Given the description of an element on the screen output the (x, y) to click on. 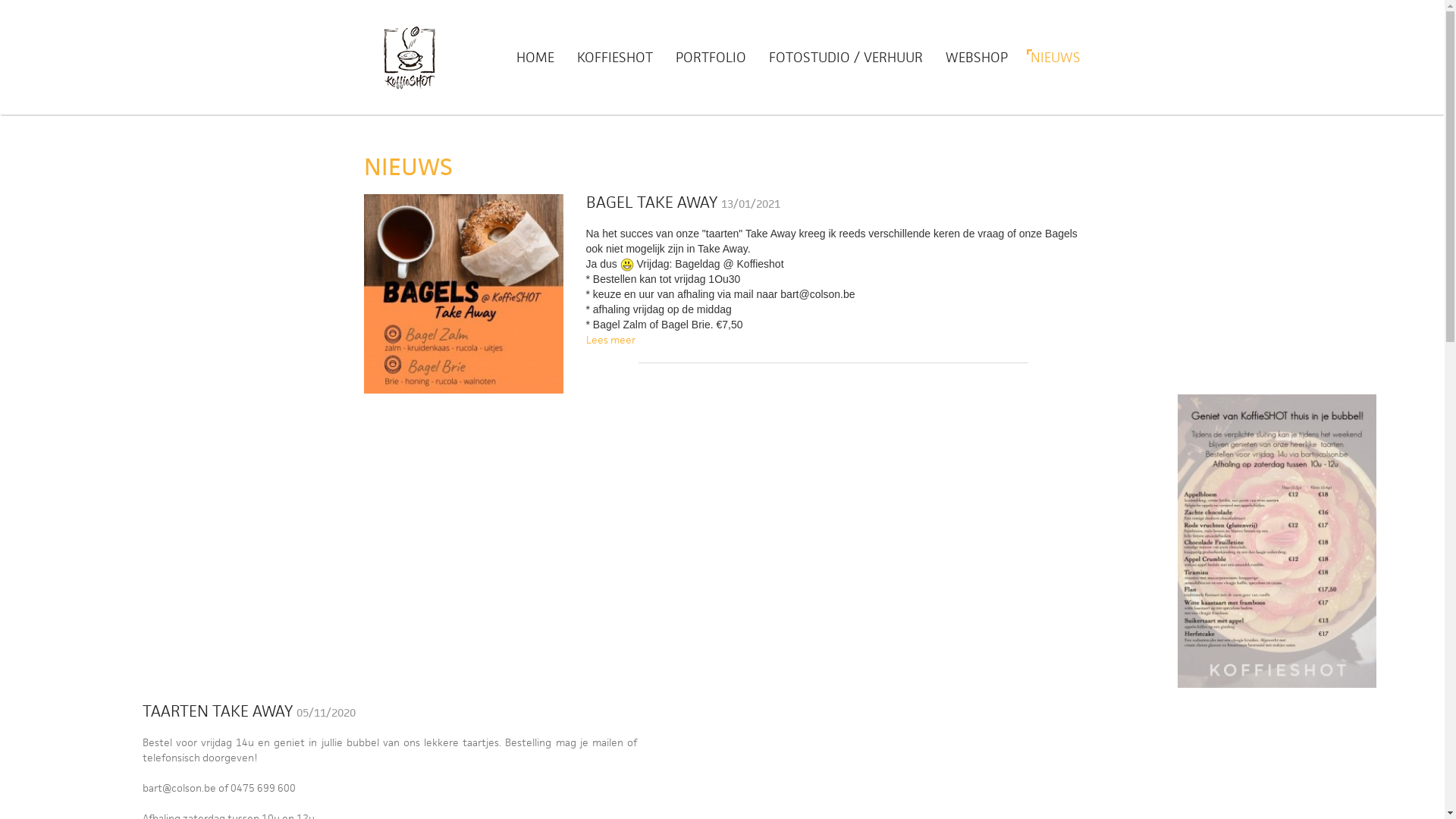
Laughing Element type: hover (626, 264)
HOME Element type: text (535, 57)
FOTOSTUDIO / VERHUUR Element type: text (845, 57)
Lees meer Element type: text (609, 339)
Bart Colson Fotografie Element type: text (409, 57)
PORTFOLIO Element type: text (710, 57)
WEBSHOP Element type: text (976, 57)
NIEUWS Element type: text (1049, 57)
KOFFIESHOT Element type: text (614, 57)
